Given the description of an element on the screen output the (x, y) to click on. 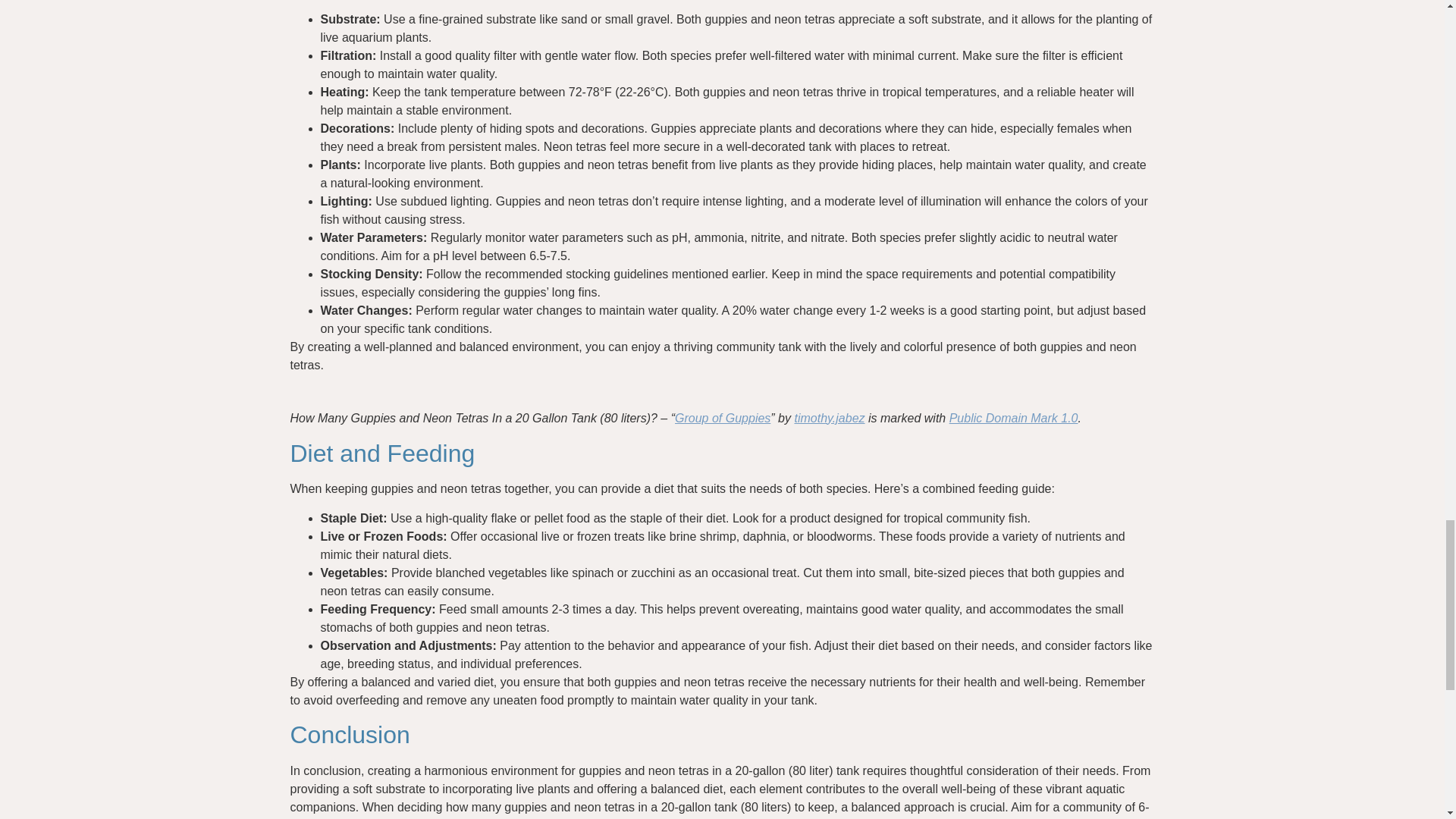
timothy.jabez (828, 418)
Public Domain Mark 1.0 (1013, 418)
Group of Guppies (722, 418)
